Given the description of an element on the screen output the (x, y) to click on. 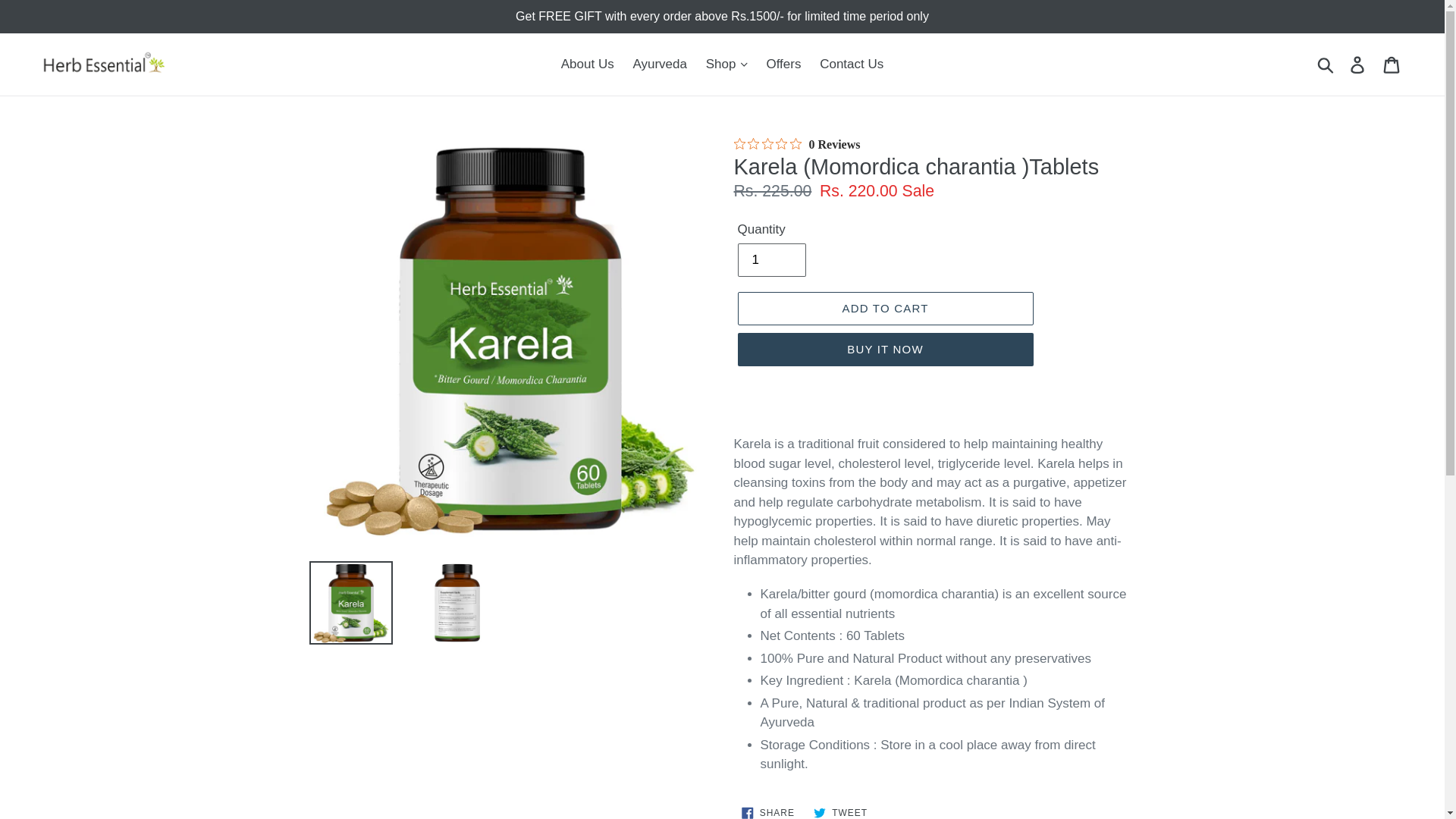
Offers (783, 64)
Submit (1326, 64)
About Us (587, 64)
0 Reviews (796, 144)
Log in (1357, 63)
Contact Us (851, 64)
Ayurveda (659, 64)
Cart (1392, 63)
1 (770, 259)
